Given the description of an element on the screen output the (x, y) to click on. 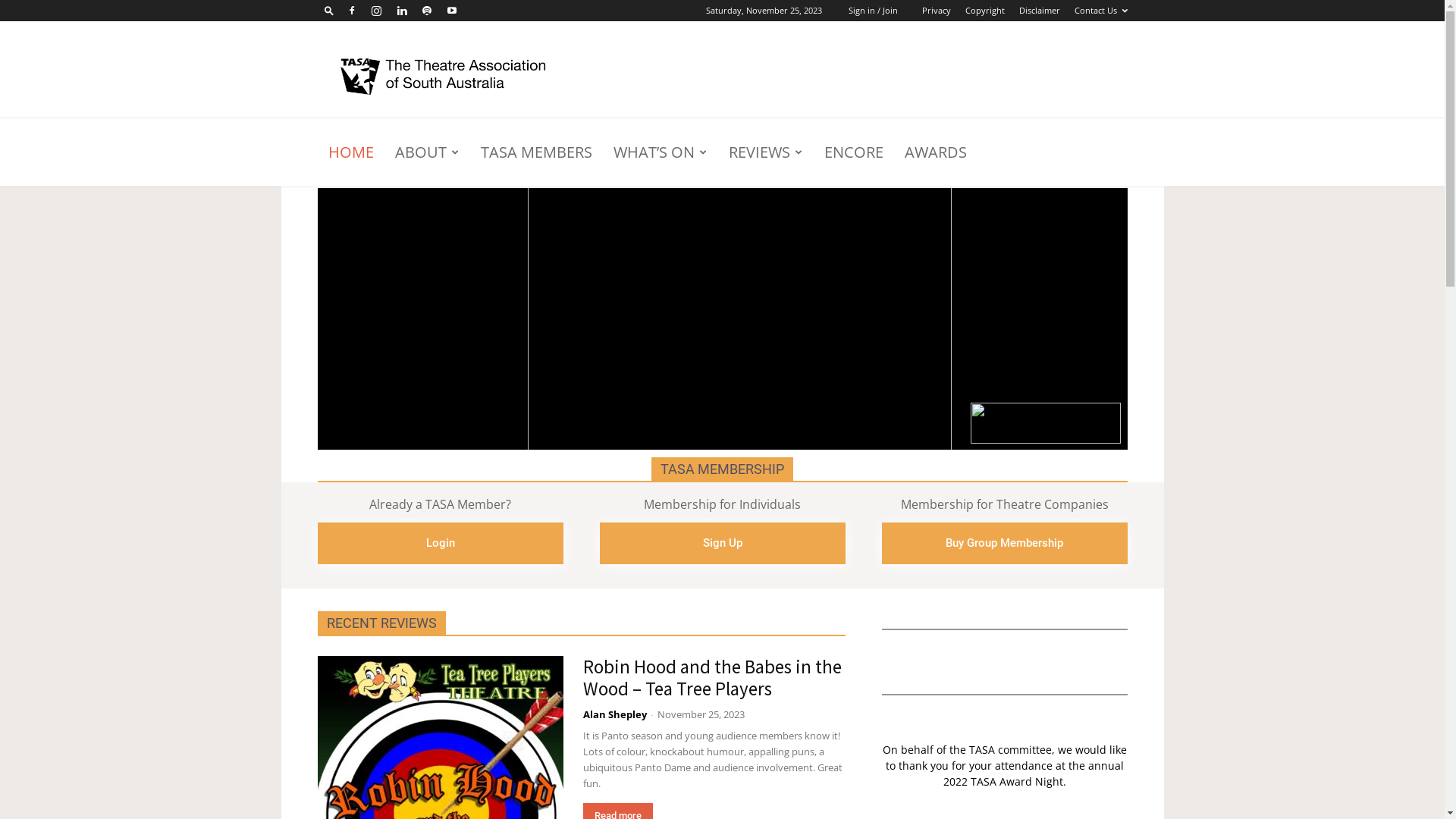
Linkedin Element type: hover (400, 10)
TASA was established in 1985 Element type: hover (445, 76)
Facebook Element type: hover (350, 10)
Sign in / Join Element type: text (872, 9)
Spotify Element type: hover (426, 10)
AWARDS Element type: text (934, 152)
Youtube Element type: hover (450, 10)
Alan Shepley Element type: text (614, 714)
Search Element type: text (421, 64)
TASA MEMBERS Element type: text (536, 152)
Privacy Element type: text (936, 9)
Disclaimer Element type: text (1039, 9)
Sign Up Element type: text (721, 543)
Copyright Element type: text (984, 9)
HOME Element type: text (349, 152)
Contact Us Element type: text (1099, 9)
REVIEWS Element type: text (764, 152)
ABOUT Element type: text (426, 152)
Login Element type: text (439, 543)
ENCORE Element type: text (852, 152)
Buy Group Membership Element type: text (1003, 543)
Instagram Element type: hover (376, 10)
